Given the description of an element on the screen output the (x, y) to click on. 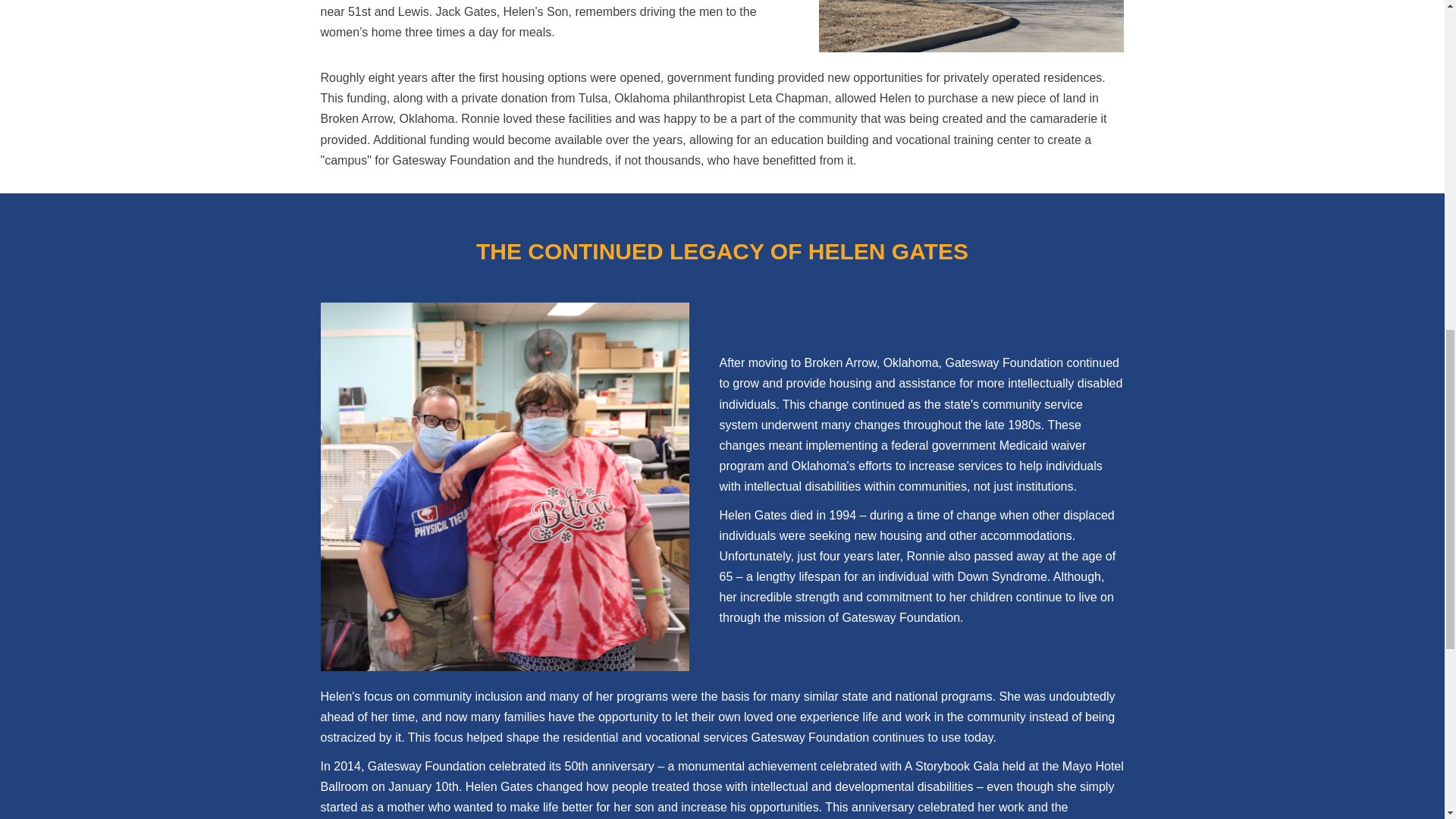
Gatesway-Main-Building (971, 26)
